Given the description of an element on the screen output the (x, y) to click on. 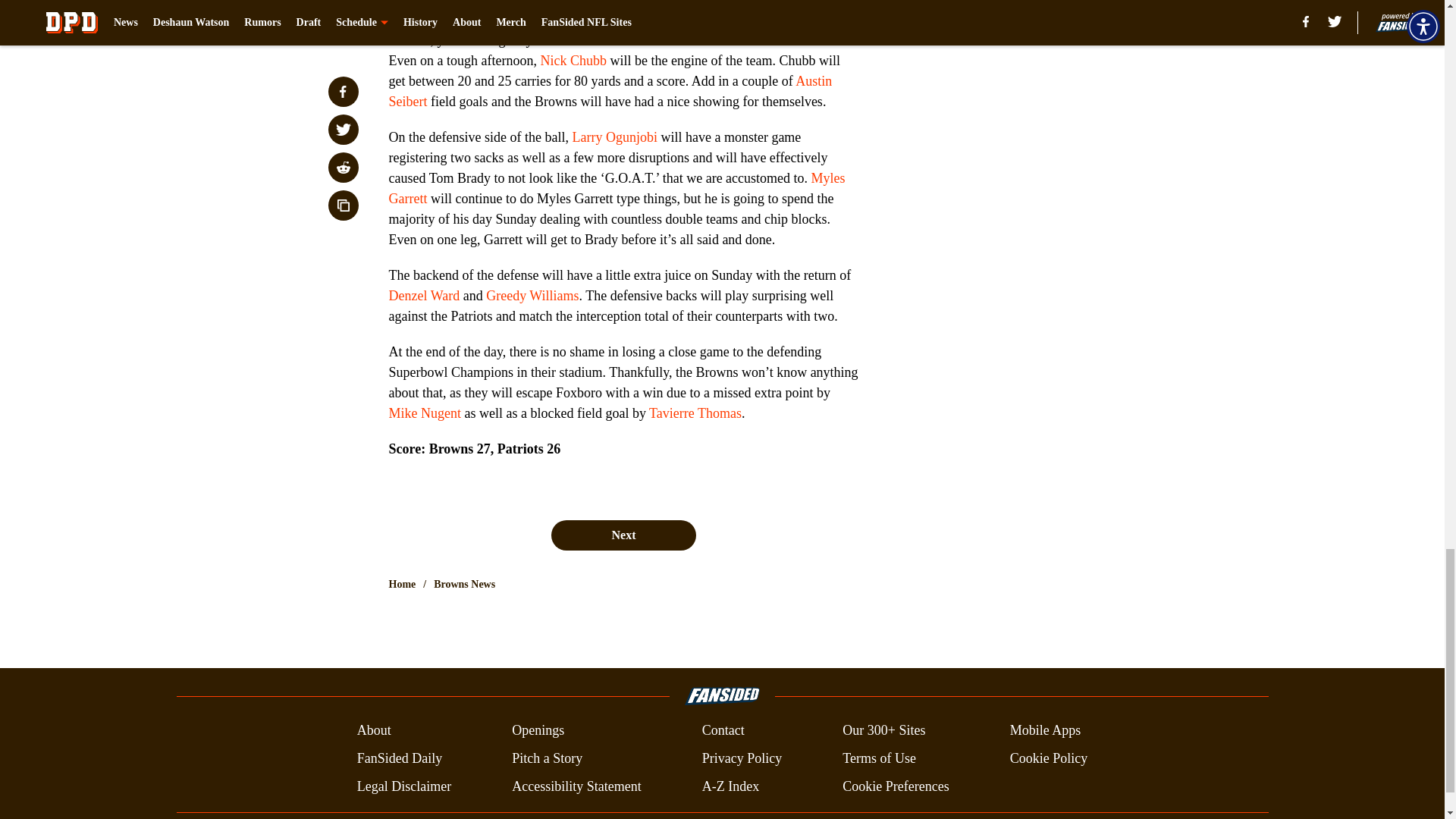
Mike Nugent (424, 412)
Denzel Ward (424, 295)
Home (401, 584)
Myles Garrett (616, 188)
Austin Seibert (609, 90)
Larry Ogunjobi (614, 136)
Nick Chubb (573, 60)
Browns News (464, 584)
Greedy Williams (532, 295)
Next (622, 535)
